Given the description of an element on the screen output the (x, y) to click on. 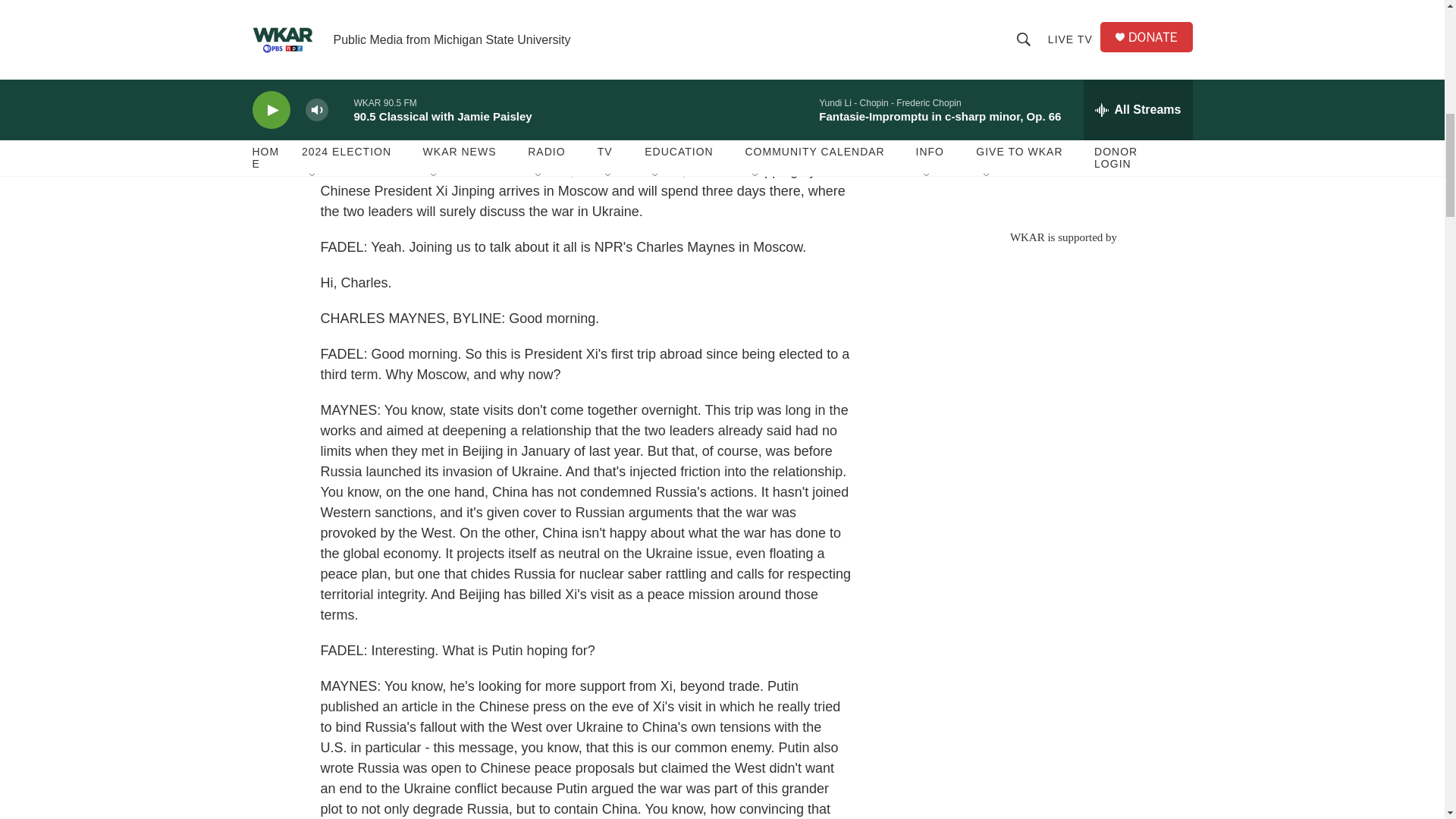
3rd party ad content (1062, 105)
3rd party ad content (1062, 353)
